Given the description of an element on the screen output the (x, y) to click on. 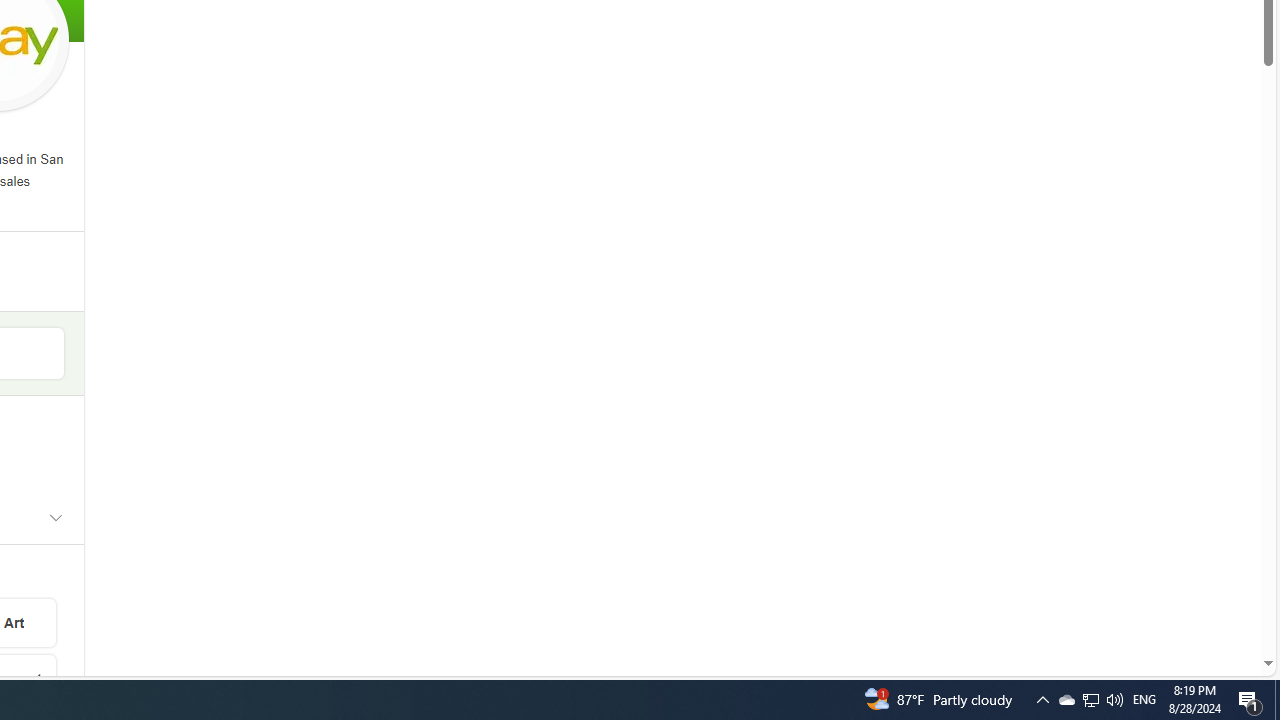
AutomationID: mfa_root (1192, 603)
Search more (1222, 604)
